Given the description of an element on the screen output the (x, y) to click on. 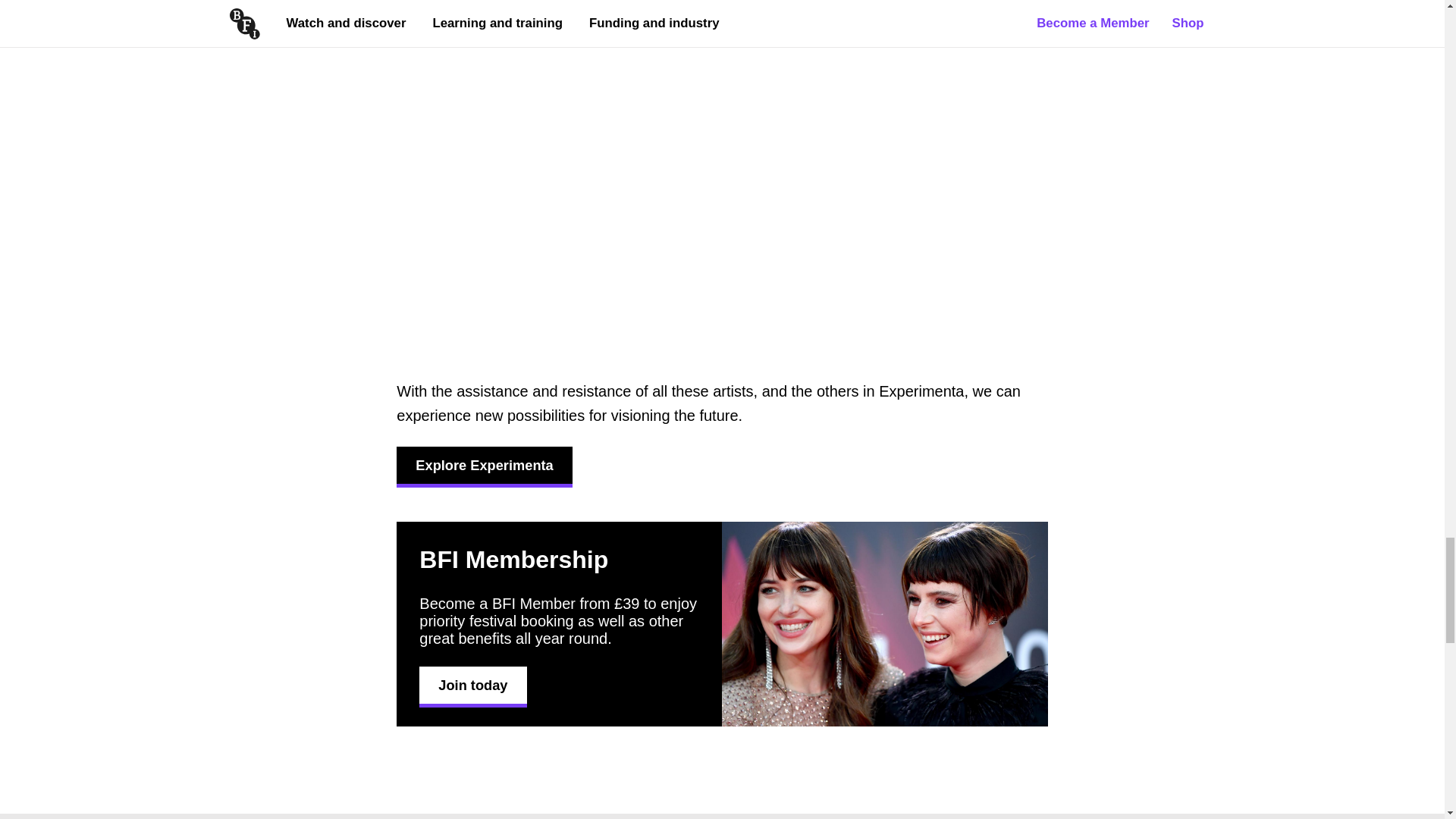
Join today (472, 684)
Explore Experimenta (484, 465)
Join today  (472, 684)
